Given the description of an element on the screen output the (x, y) to click on. 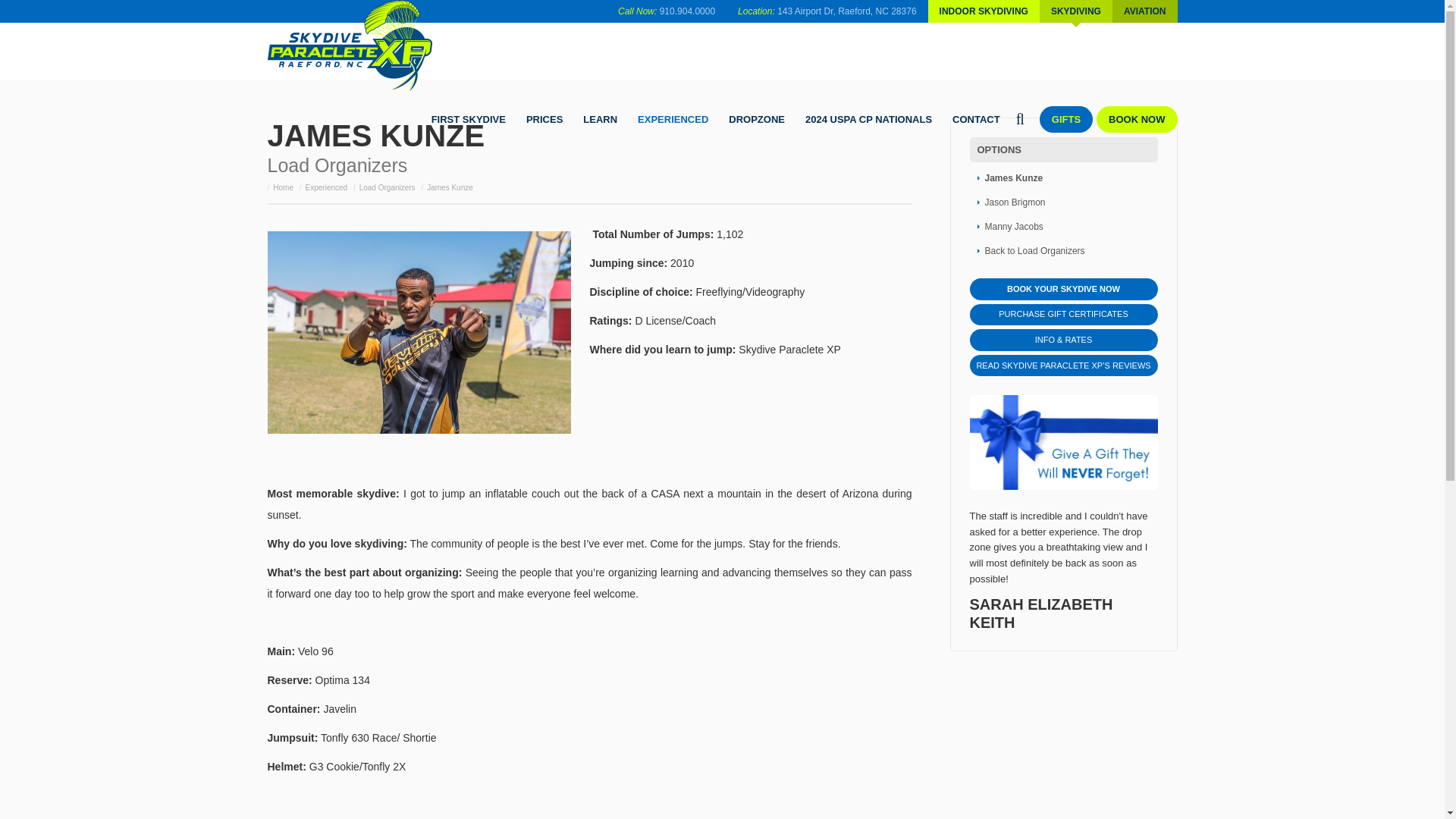
Go to James Kunze. (449, 187)
PRICES (544, 119)
FIRST SKYDIVE (468, 119)
Go to Experienced. (326, 187)
LEARN (600, 119)
Location: 143 Airport Dr, Raeford, NC 28376 (826, 11)
Skydive Paraclete XP (353, 45)
2024 USPA CP NATIONALS (868, 119)
AVIATION (1144, 11)
DROPZONE (756, 119)
Go to Load Organizers. (386, 187)
INDOOR SKYDIVING (983, 11)
SKYDIVING (1075, 11)
Call Now: 910.904.0000 (666, 11)
Go to Skydive Paraclete XP. (283, 187)
